Given the description of an element on the screen output the (x, y) to click on. 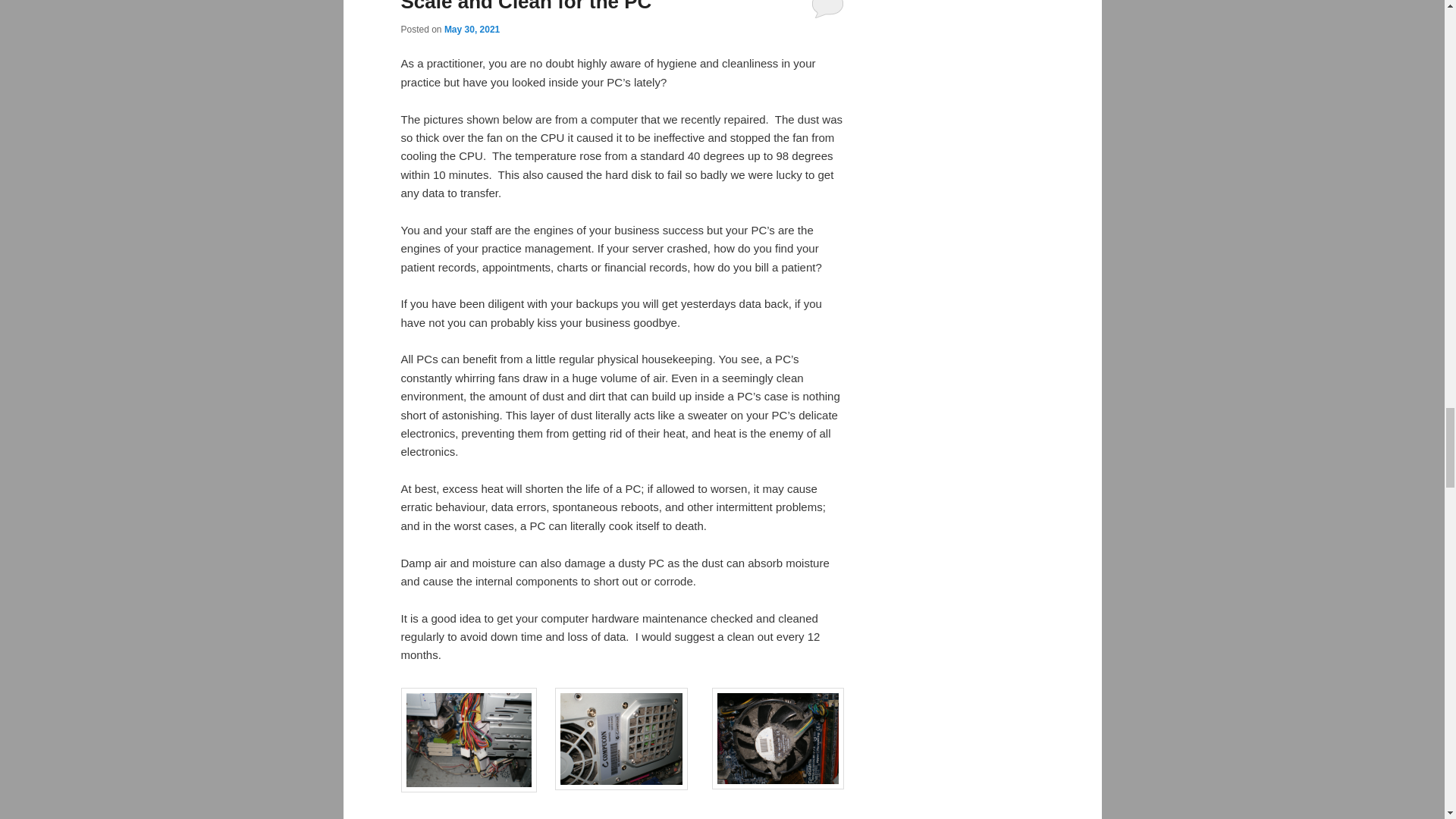
11:34 PM (471, 29)
